Given the description of an element on the screen output the (x, y) to click on. 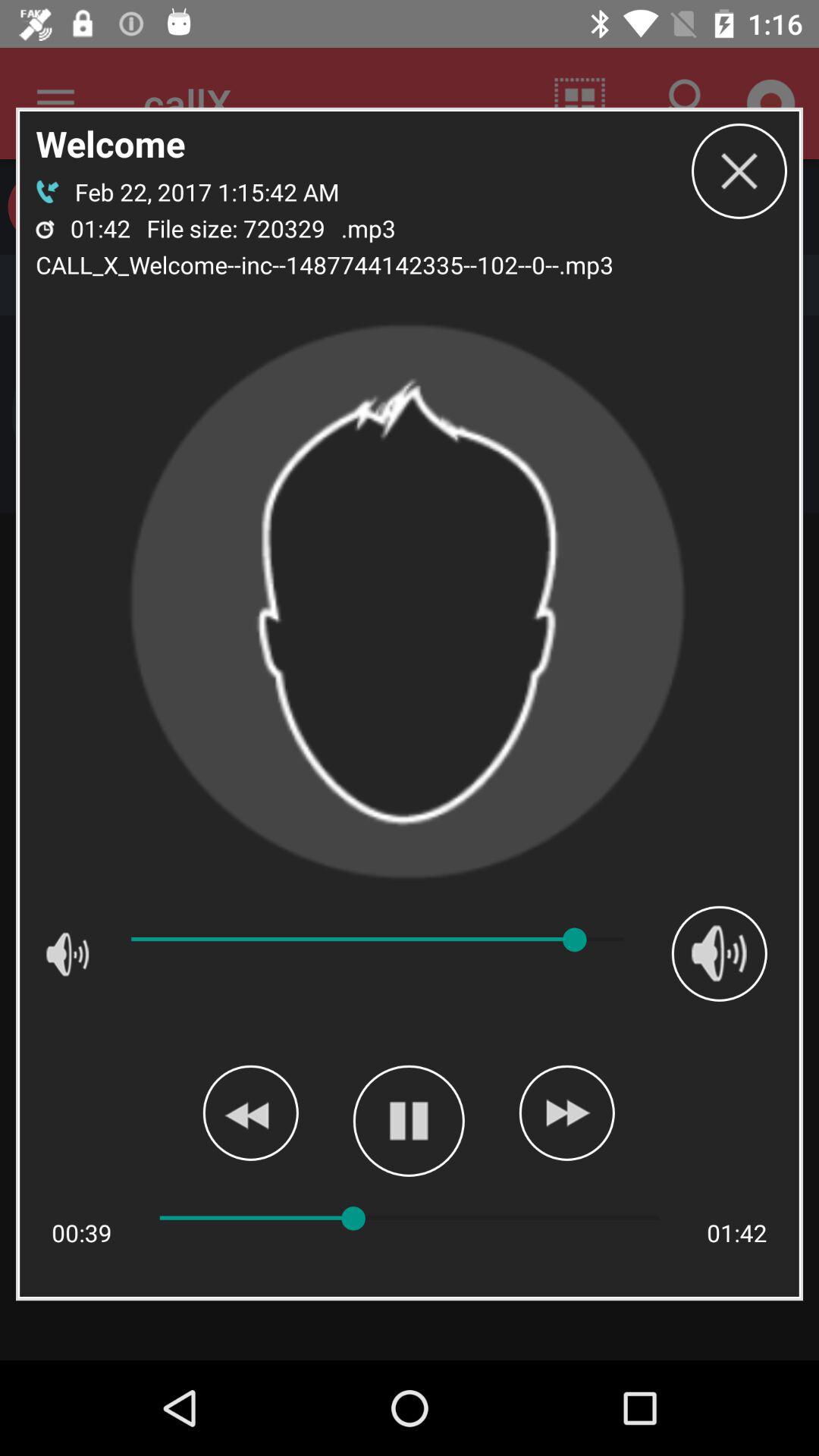
go forward button (566, 1112)
